Given the description of an element on the screen output the (x, y) to click on. 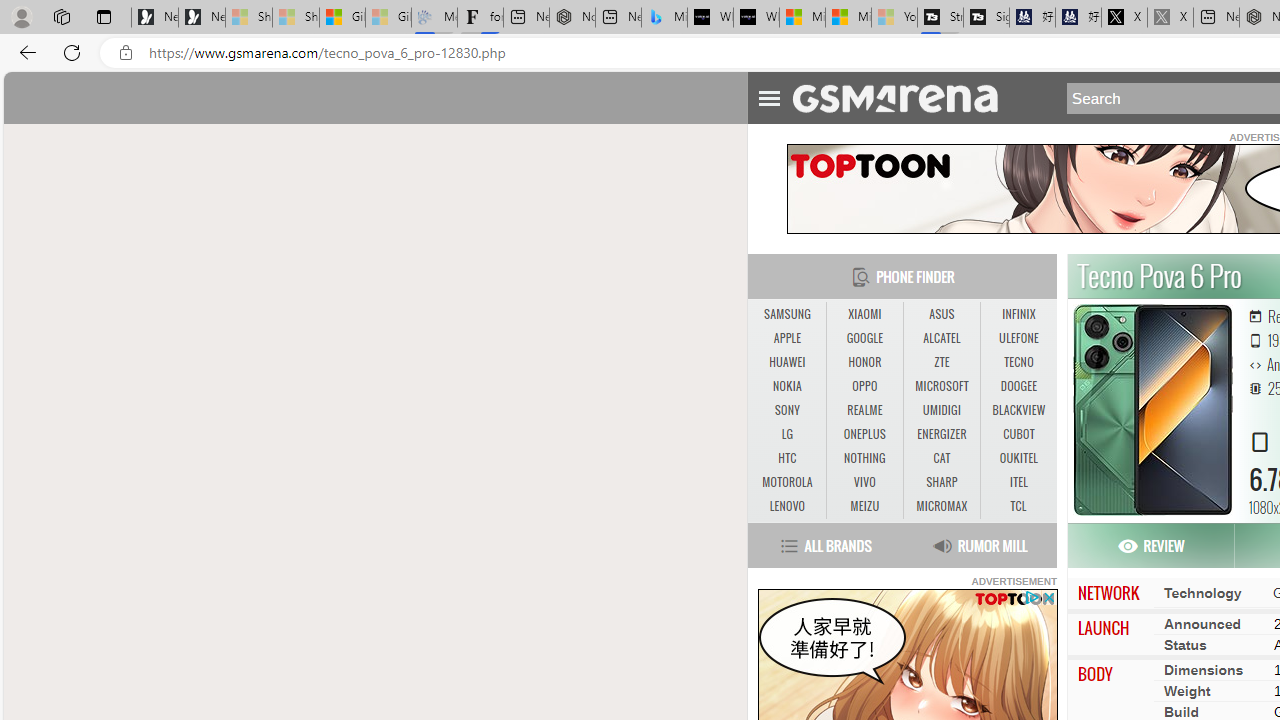
NOKIA (786, 385)
APPLE (786, 338)
Technology (1202, 592)
HTC (786, 457)
DOOGEE (1018, 386)
LG (786, 434)
ONEPLUS (864, 434)
BLACKVIEW (1018, 411)
OPPO (863, 385)
